Given the description of an element on the screen output the (x, y) to click on. 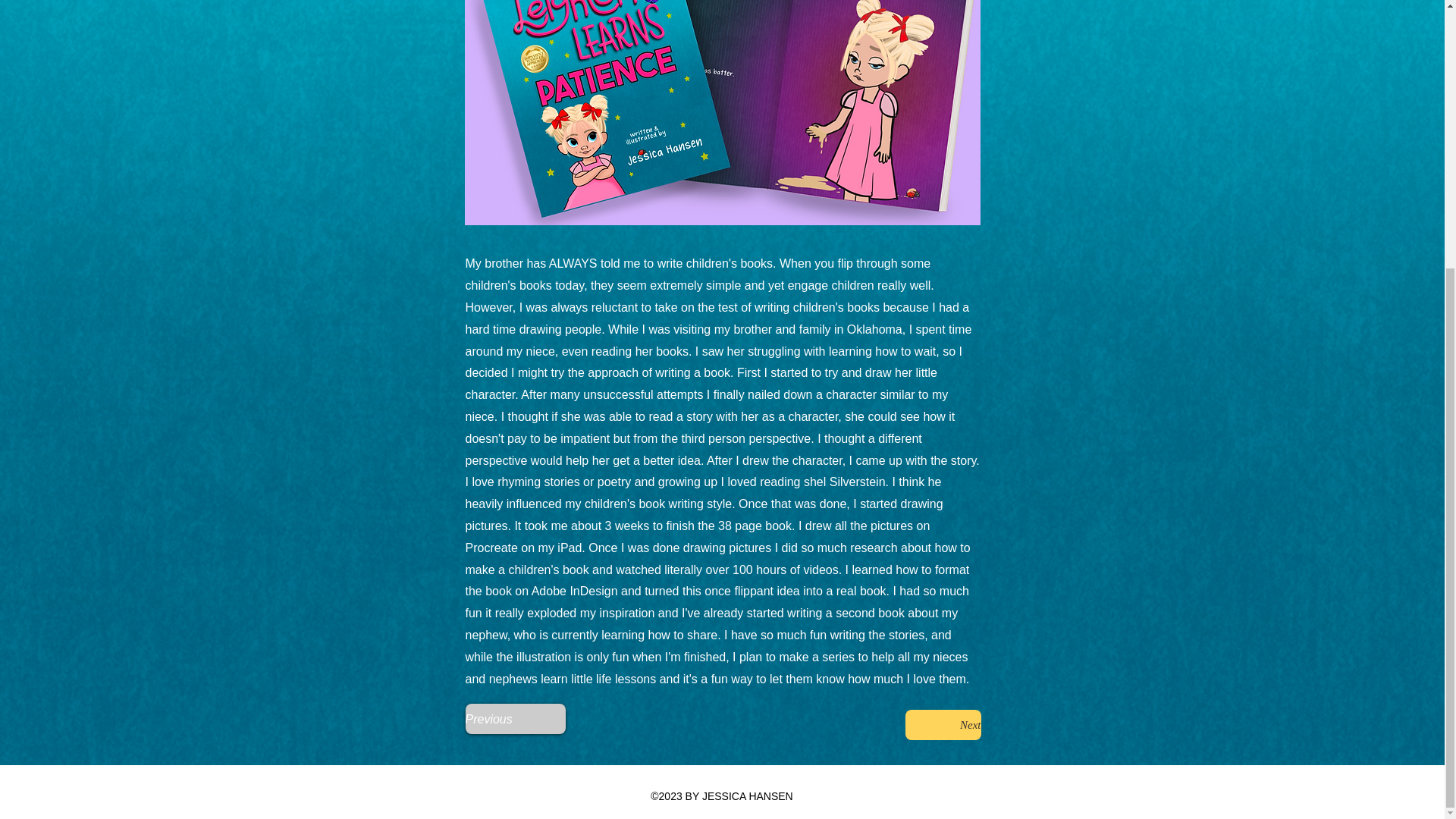
Next (943, 725)
Previous (515, 718)
